Given the description of an element on the screen output the (x, y) to click on. 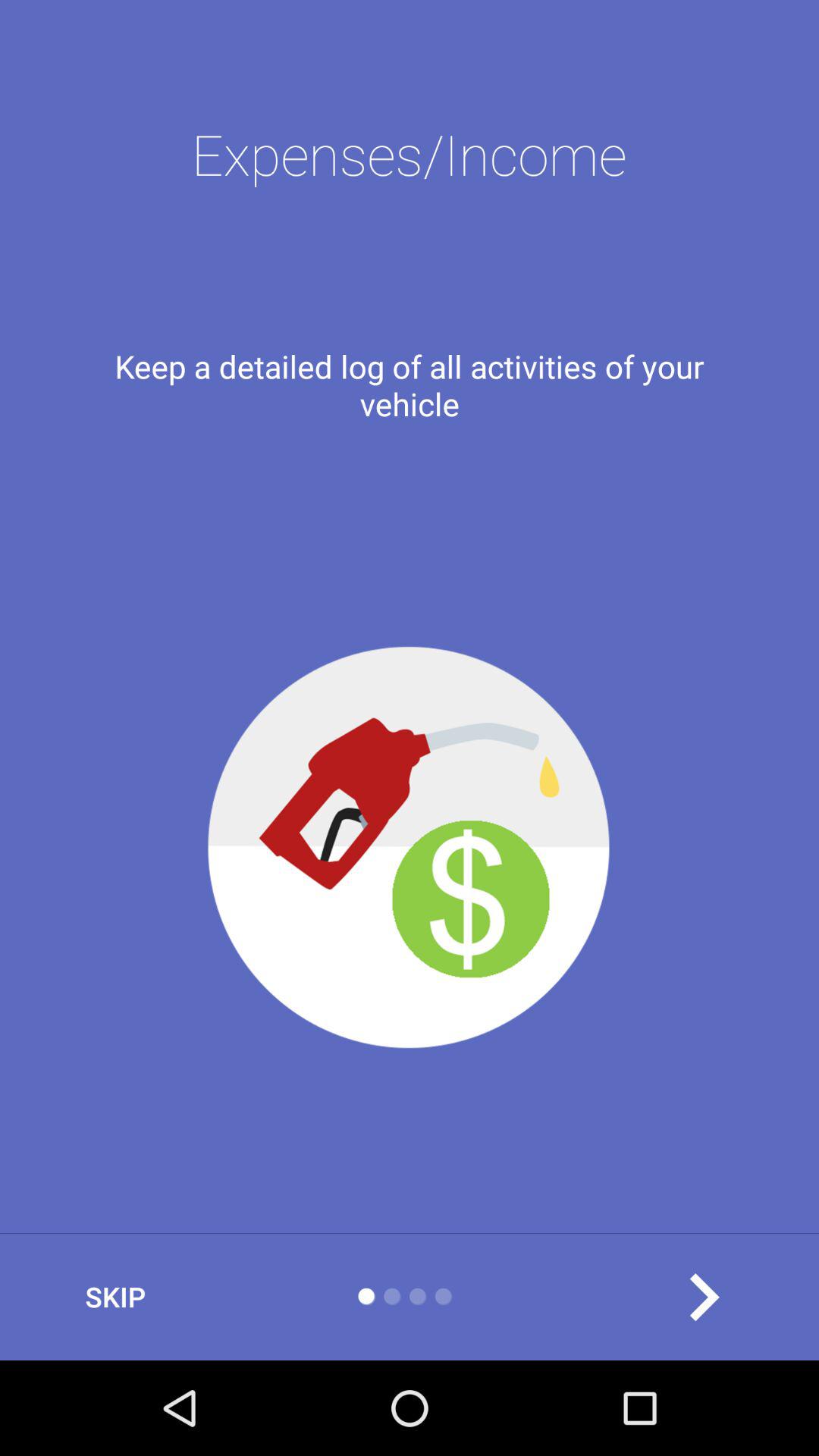
jump to the skip (114, 1296)
